Given the description of an element on the screen output the (x, y) to click on. 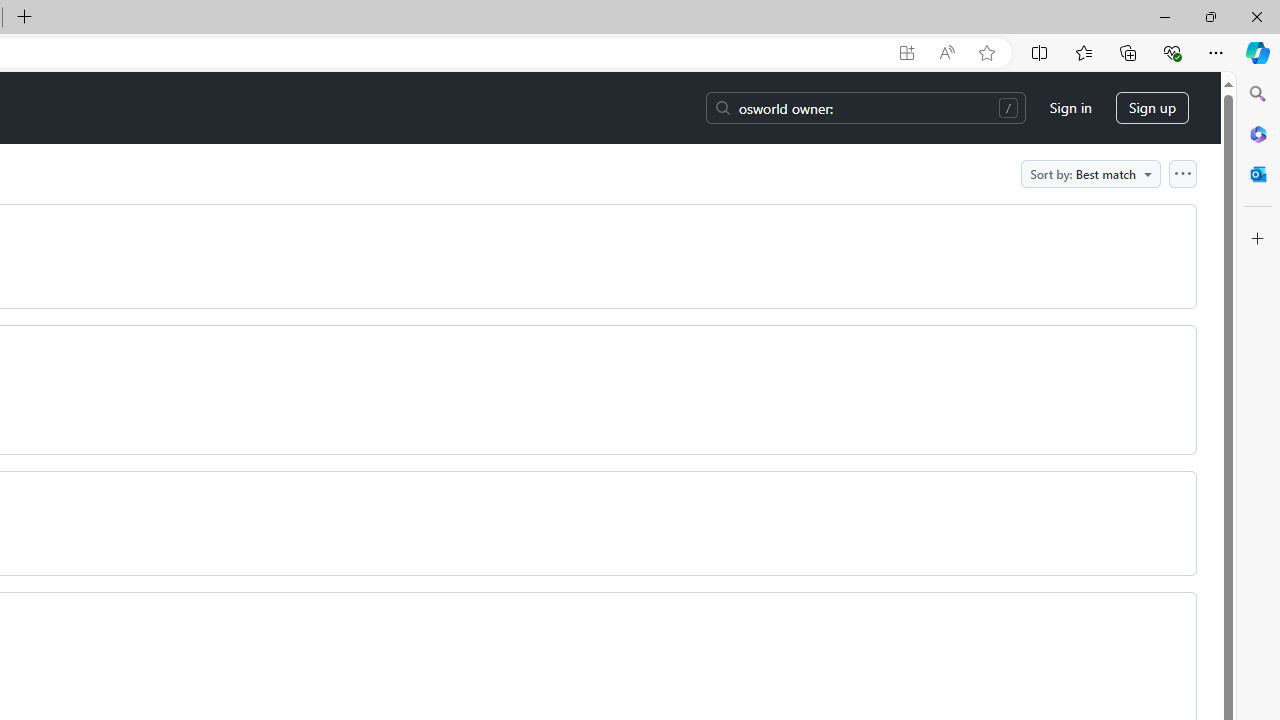
App available. Install GitHub (906, 53)
Sign up (1152, 107)
Open column options (1182, 173)
